Given the description of an element on the screen output the (x, y) to click on. 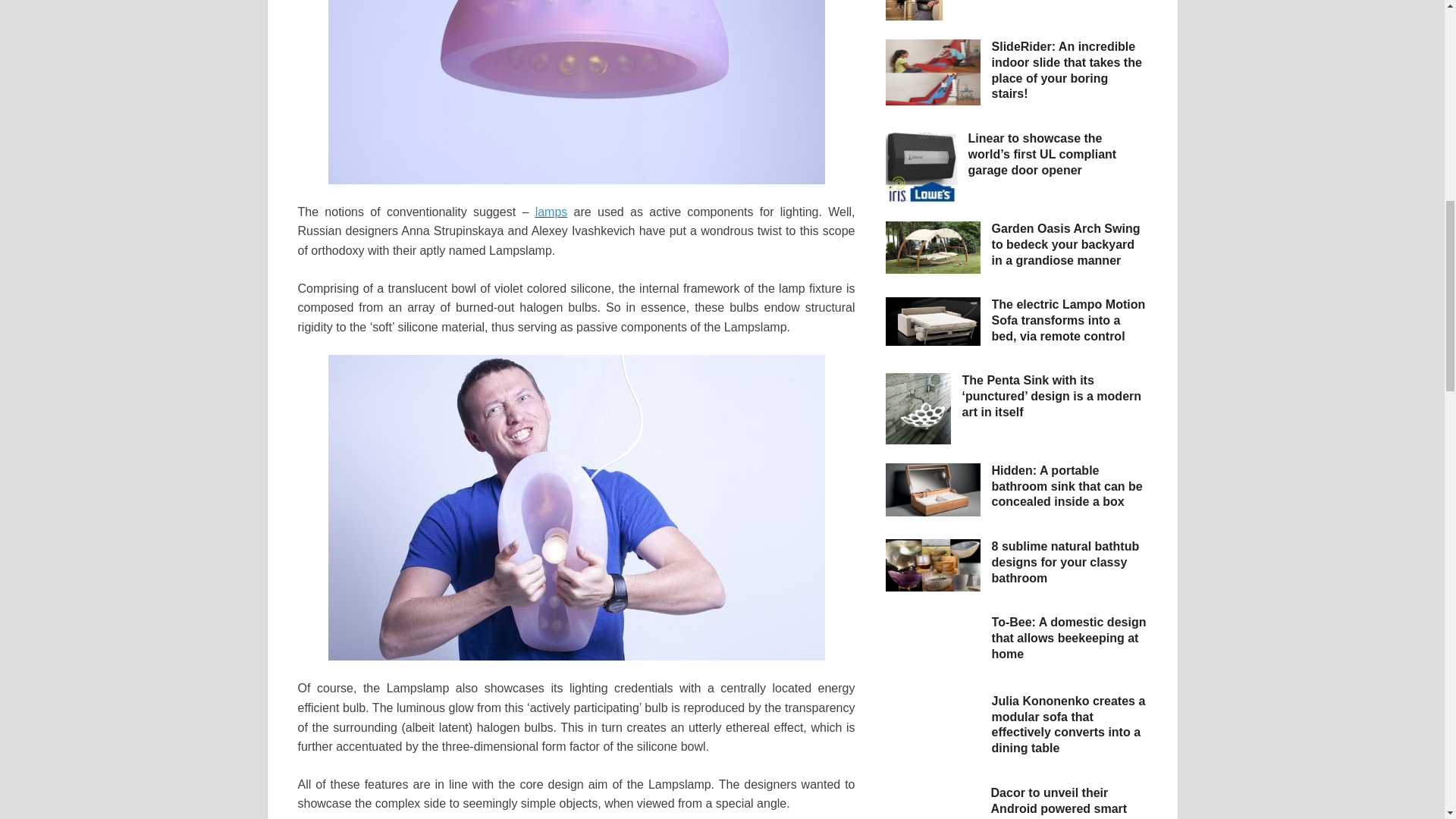
lamps (551, 211)
